Given the description of an element on the screen output the (x, y) to click on. 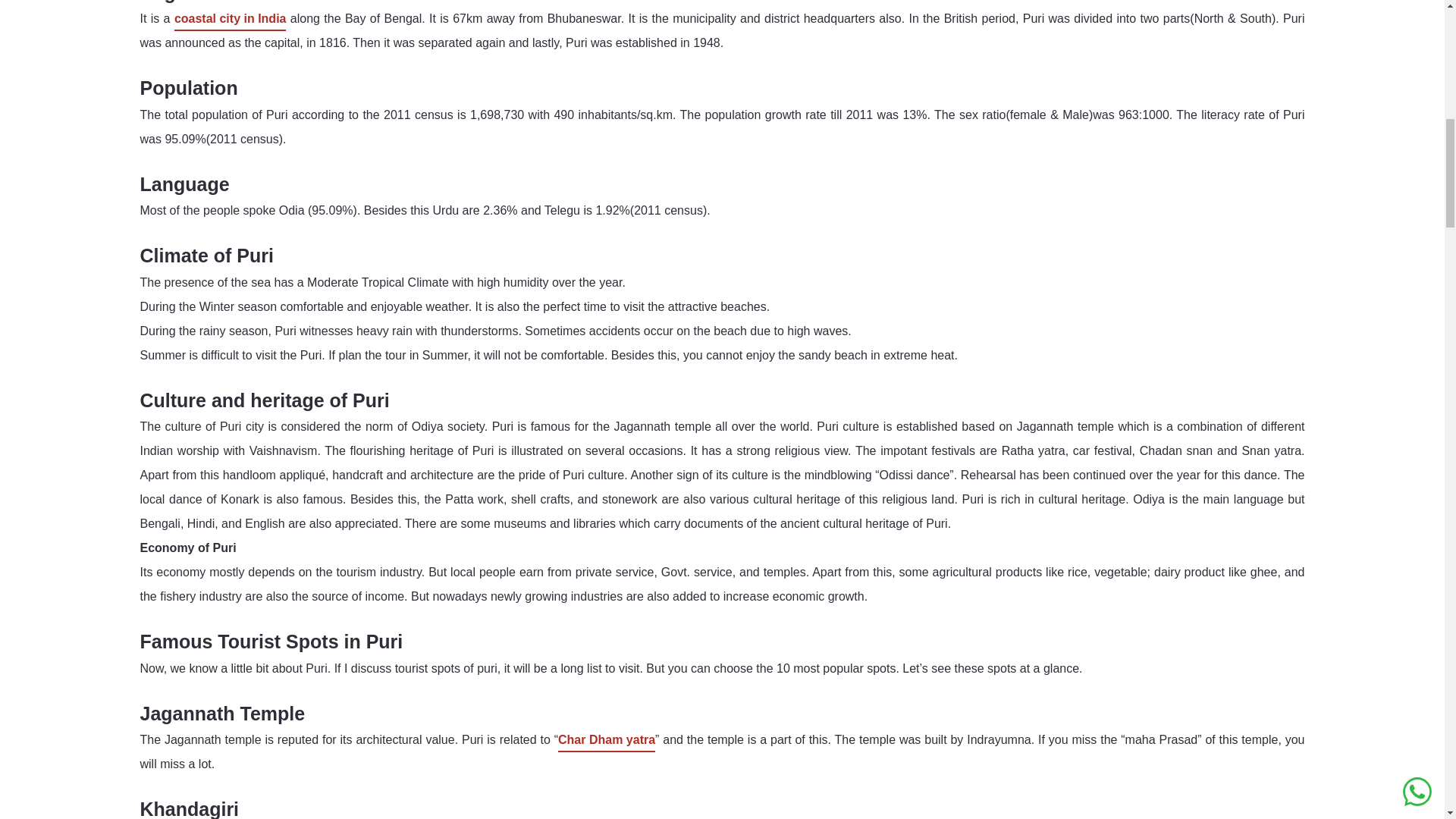
coastal city in India (230, 18)
Char Dham yatra (606, 740)
